Given the description of an element on the screen output the (x, y) to click on. 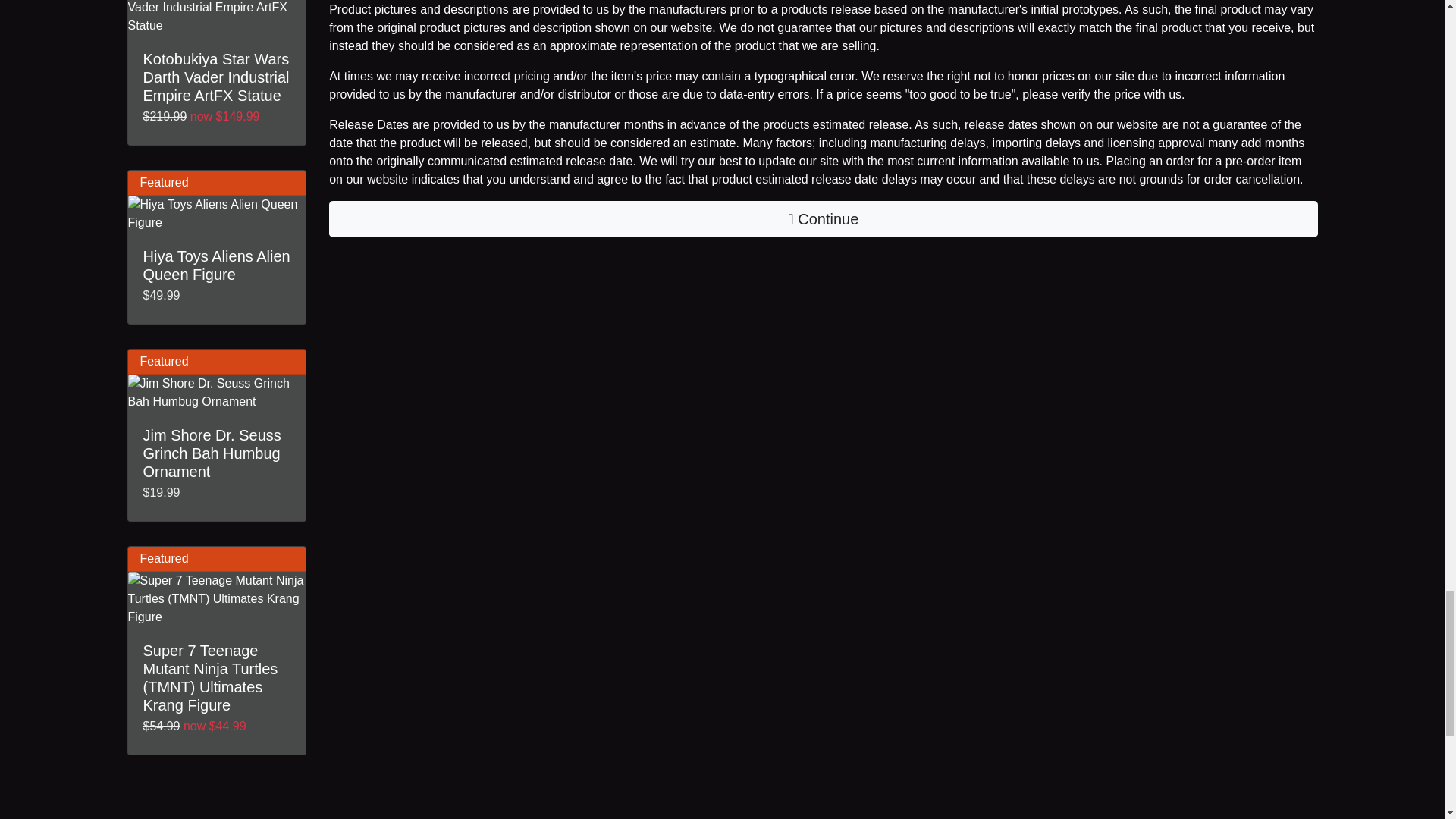
Jim Shore Dr. Seuss Grinch Bah Humbug Ornament (216, 392)
Hiya Toys Aliens Alien Queen Figure (216, 213)
